Given the description of an element on the screen output the (x, y) to click on. 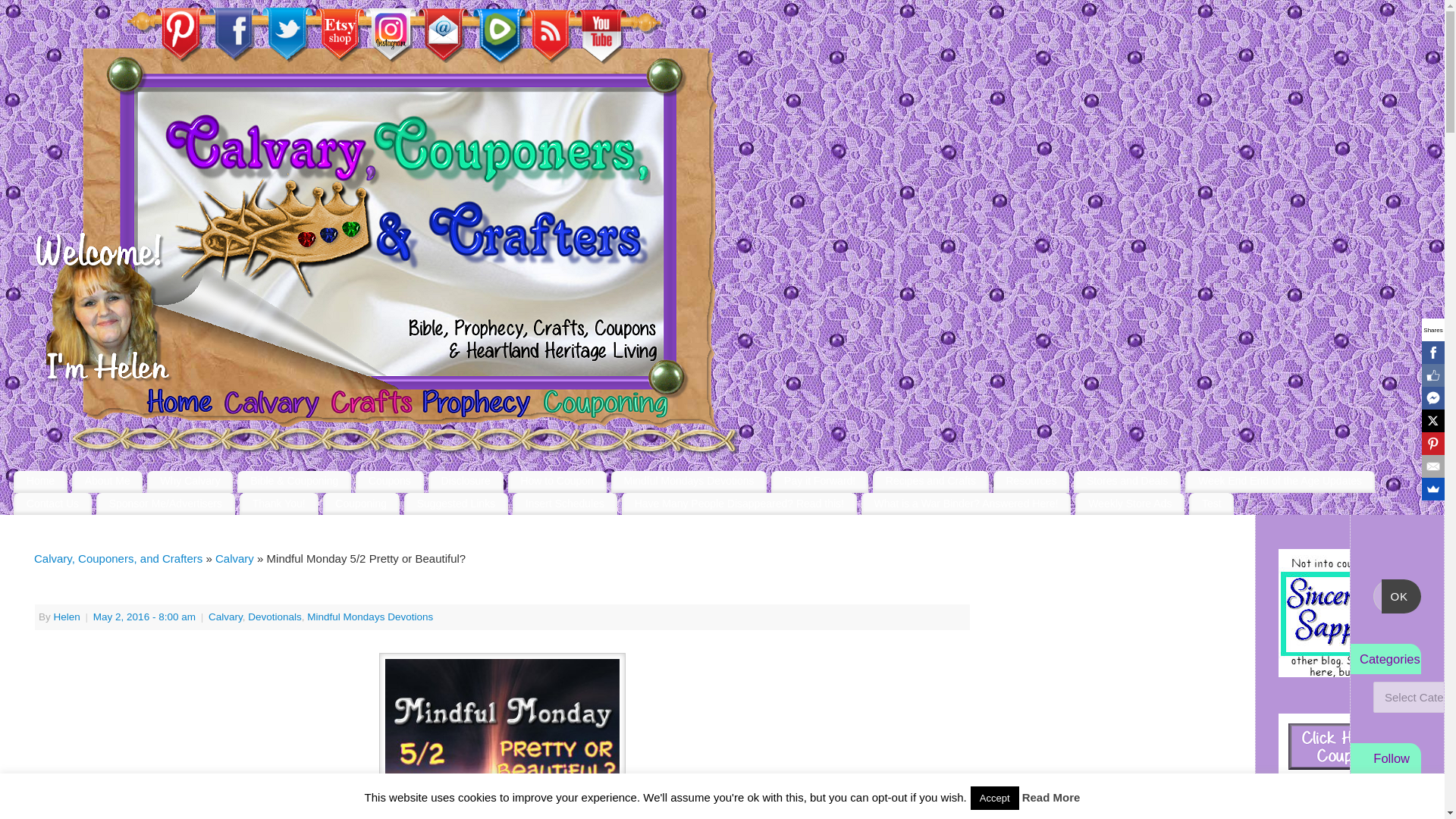
Test (1211, 504)
Weekly Store Ads (1130, 504)
How to Coupon (557, 481)
May 2, 2016 - 8:00 am (144, 616)
Recipes and Crafts (930, 481)
Why Calvary (189, 481)
Calvary, Couponers, and Crafters (117, 558)
Week End End of the Age Updates (1279, 481)
Mindful Mondays Devotions (369, 616)
Devotionals (274, 616)
Couponing (360, 504)
Thank You! (279, 504)
Coupons (389, 481)
Have Many People Disappeared? Read this! (739, 504)
Insert Schedules (564, 504)
